Given the description of an element on the screen output the (x, y) to click on. 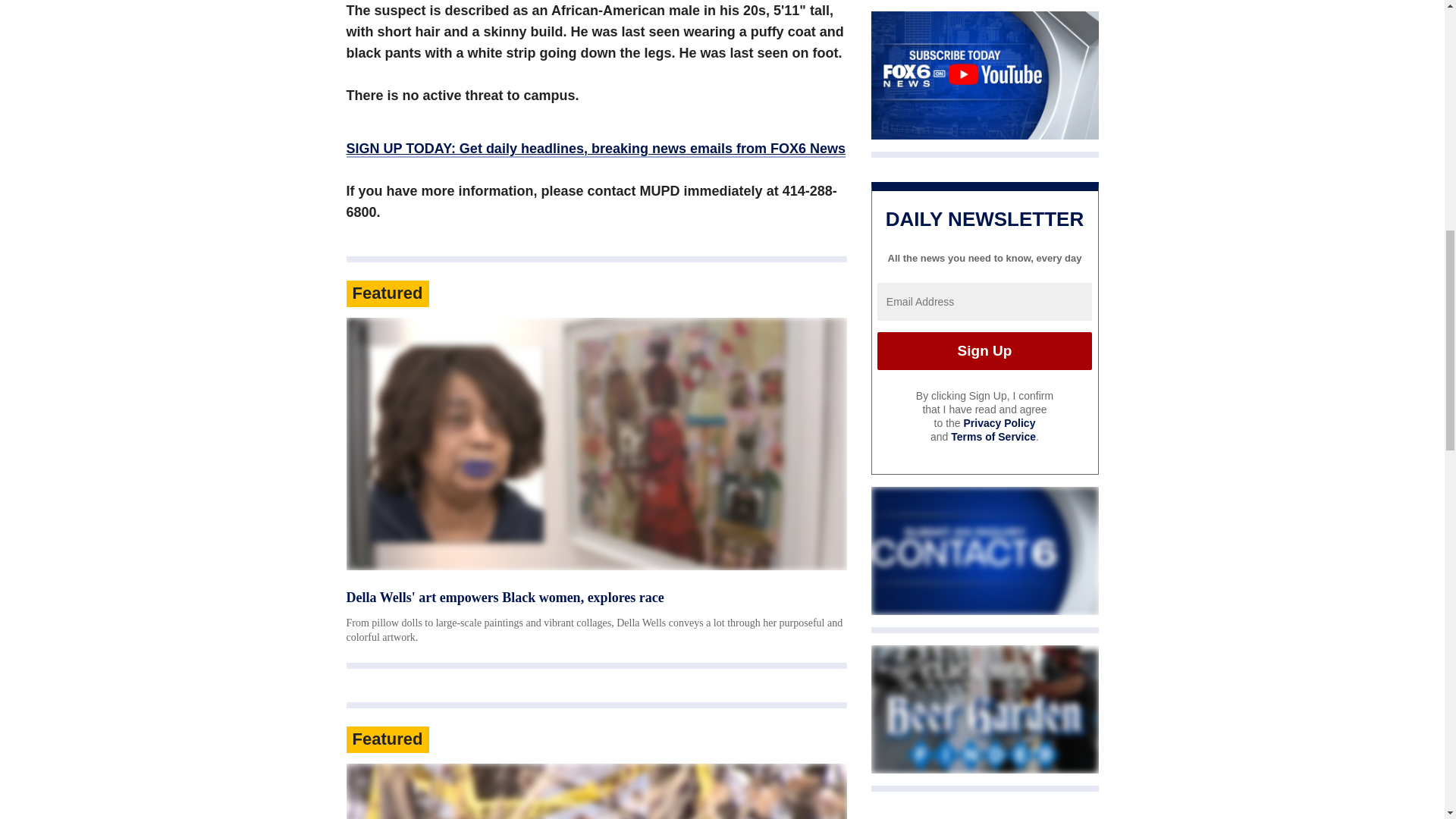
Sign Up (984, 351)
